Given the description of an element on the screen output the (x, y) to click on. 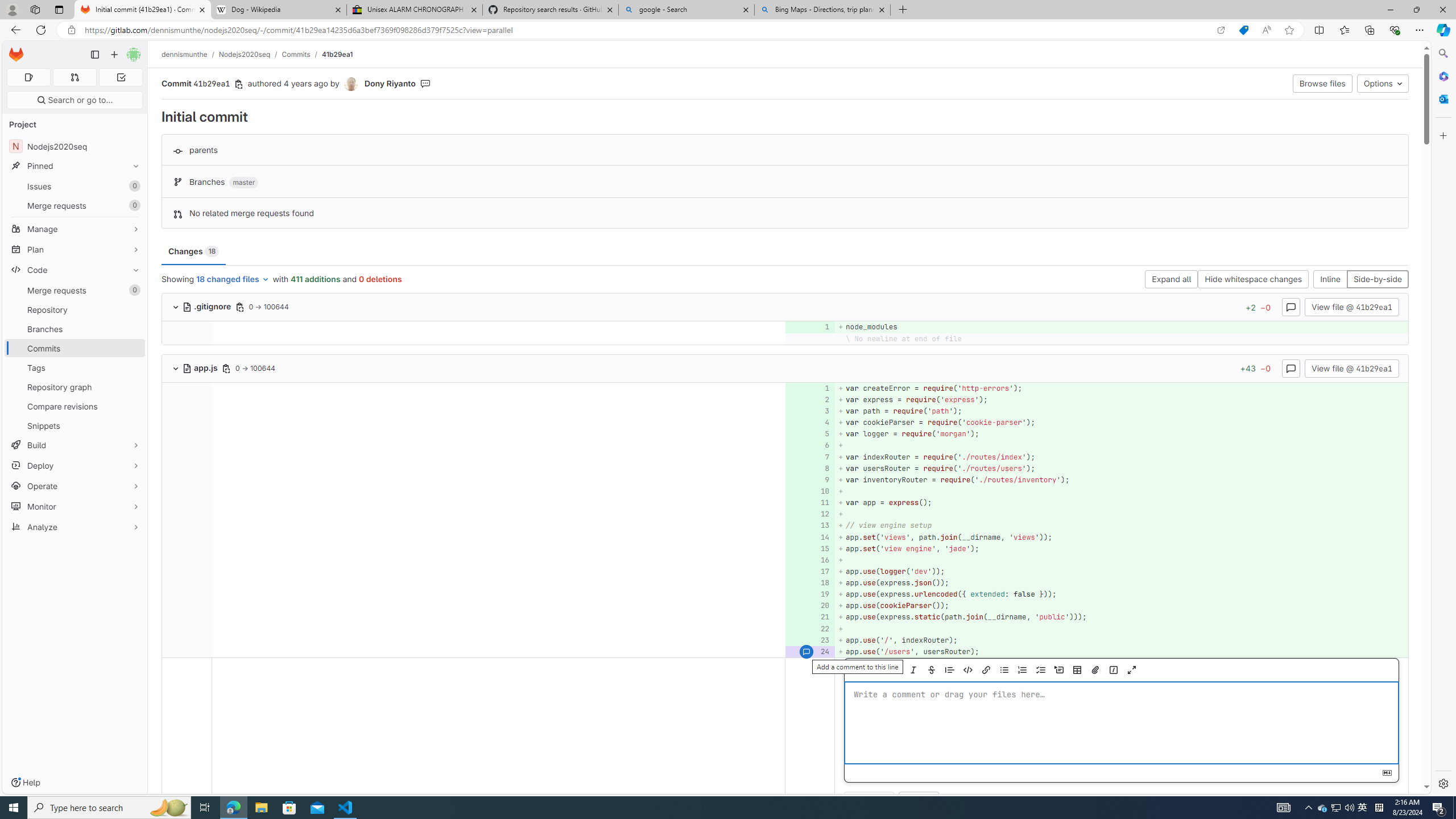
9 (808, 479)
+ app.use('/', indexRouter);  (1120, 639)
Class: notes_holder js-temp-notes-holder (784, 737)
Assigned issues 0 (28, 76)
Repository graph (74, 386)
+  (1120, 628)
Preview (868, 670)
3 (808, 410)
Tags (74, 367)
13 (808, 525)
Code (74, 269)
Add a comment to this line 6 (809, 445)
